Given the description of an element on the screen output the (x, y) to click on. 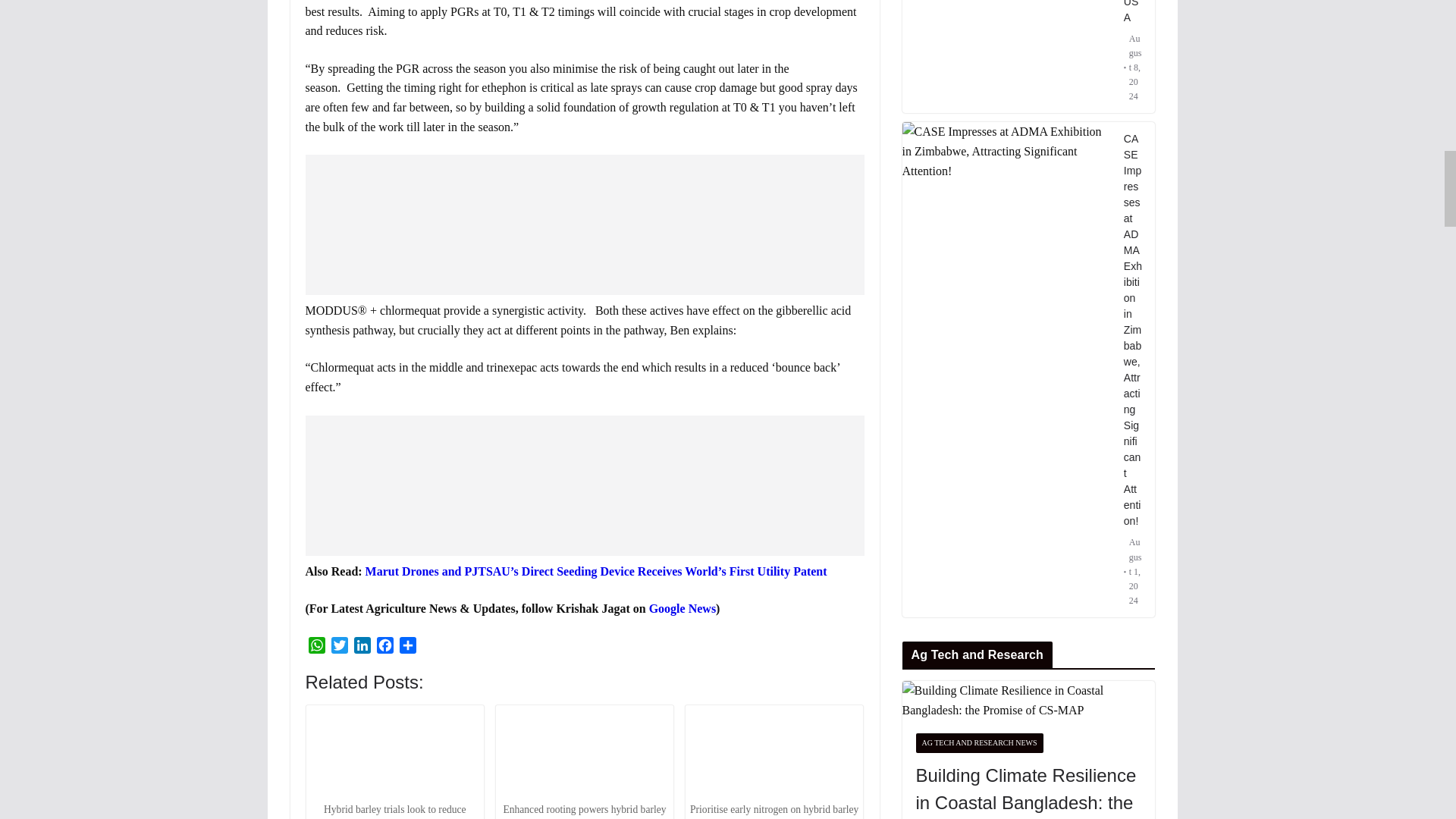
Twitter (338, 647)
Enhanced rooting powers hybrid barley to victory (584, 752)
WhatsApp (315, 647)
Prioritise early nitrogen on hybrid barley (774, 752)
LinkedIn (361, 647)
Facebook (384, 647)
